Given the description of an element on the screen output the (x, y) to click on. 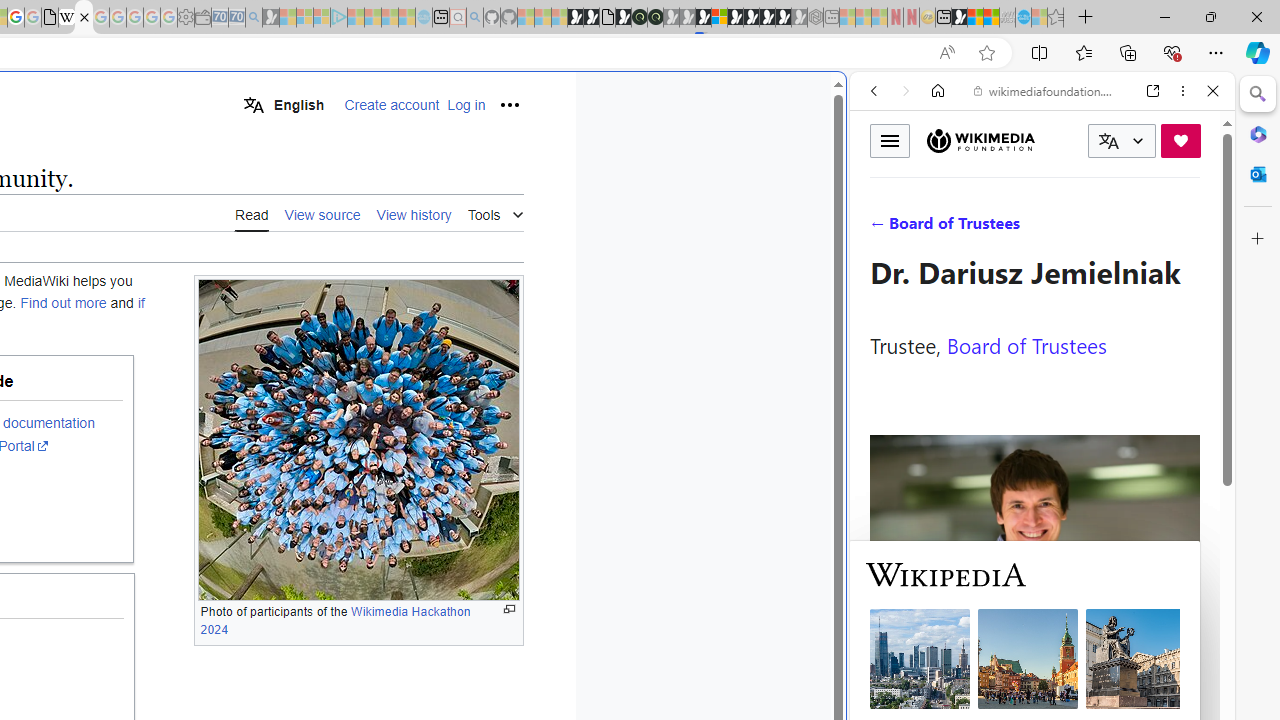
Read (251, 214)
View source (322, 213)
VIDEOS (1006, 228)
WEB   (882, 228)
CURRENT LANGUAGE: (1121, 141)
View history (413, 213)
Search Filter, Search Tools (1093, 228)
English (283, 104)
Find out more (63, 303)
